Given the description of an element on the screen output the (x, y) to click on. 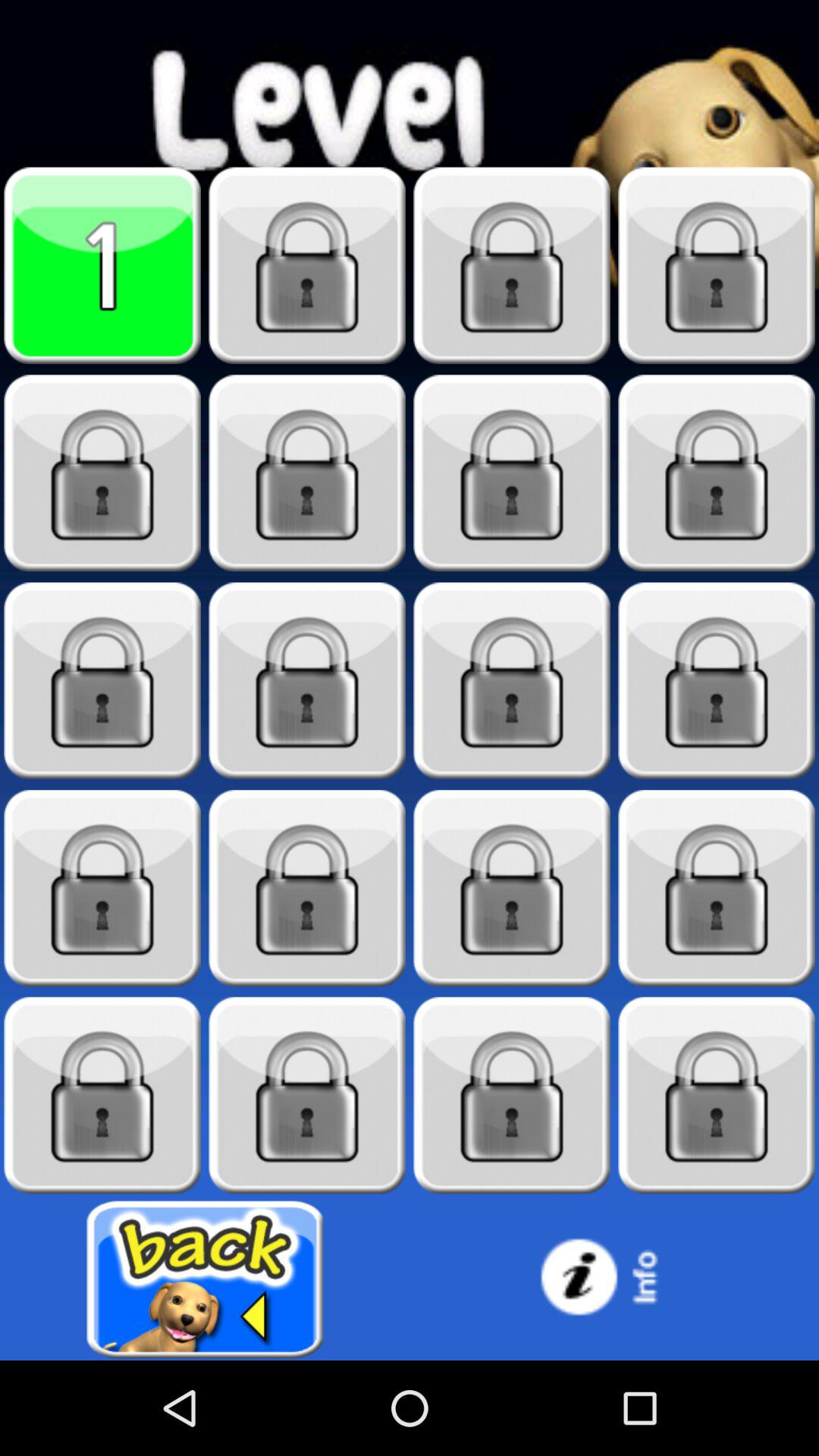
level 20 locked (716, 1094)
